Given the description of an element on the screen output the (x, y) to click on. 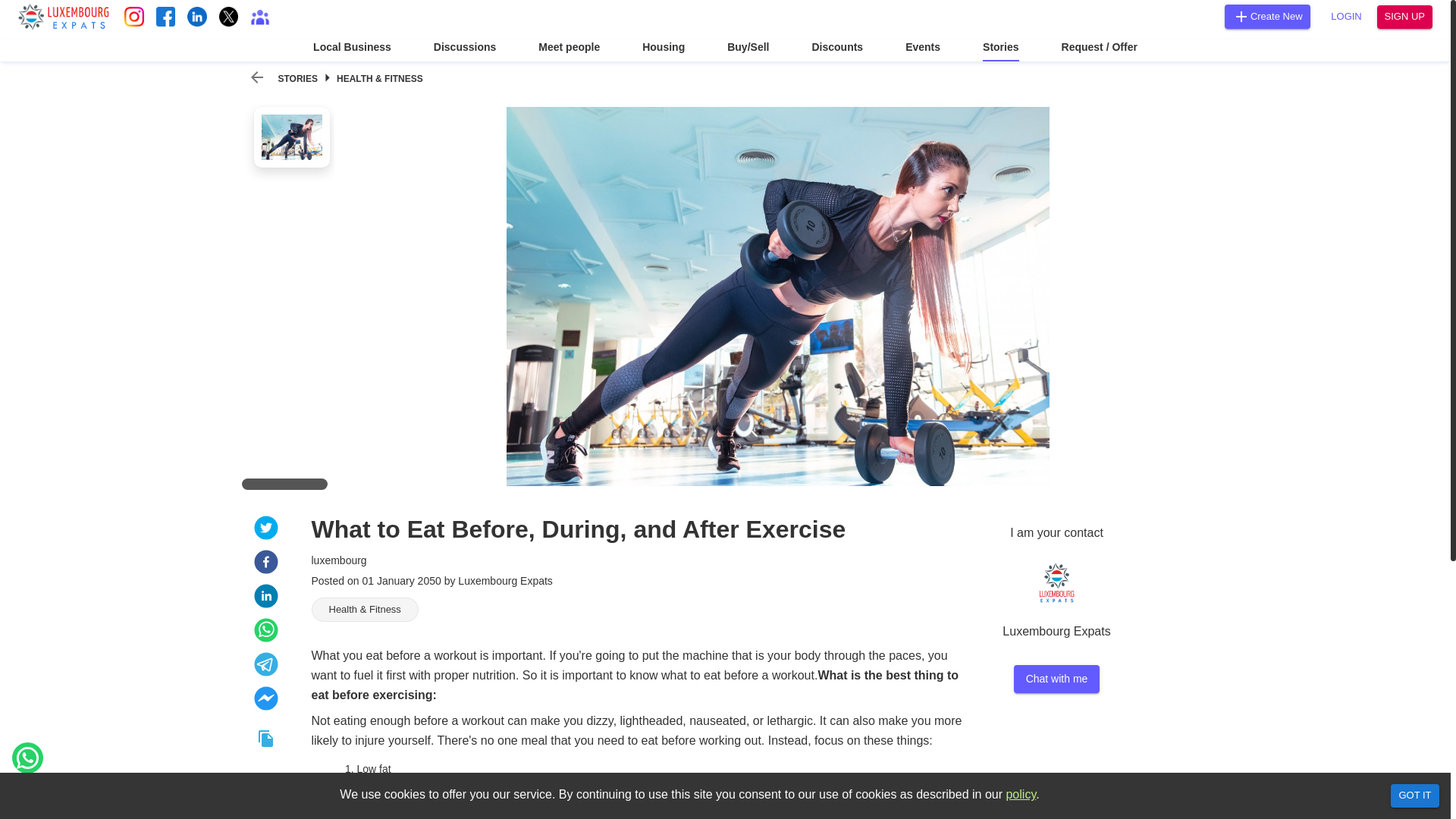
Create New (1267, 16)
STORIES (297, 79)
Stories (999, 50)
Events (922, 50)
LOGIN (1346, 16)
Facebook Groups (259, 16)
Facebook (165, 16)
policy (1020, 793)
Discussions (464, 50)
SIGN UP (1404, 16)
